Given the description of an element on the screen output the (x, y) to click on. 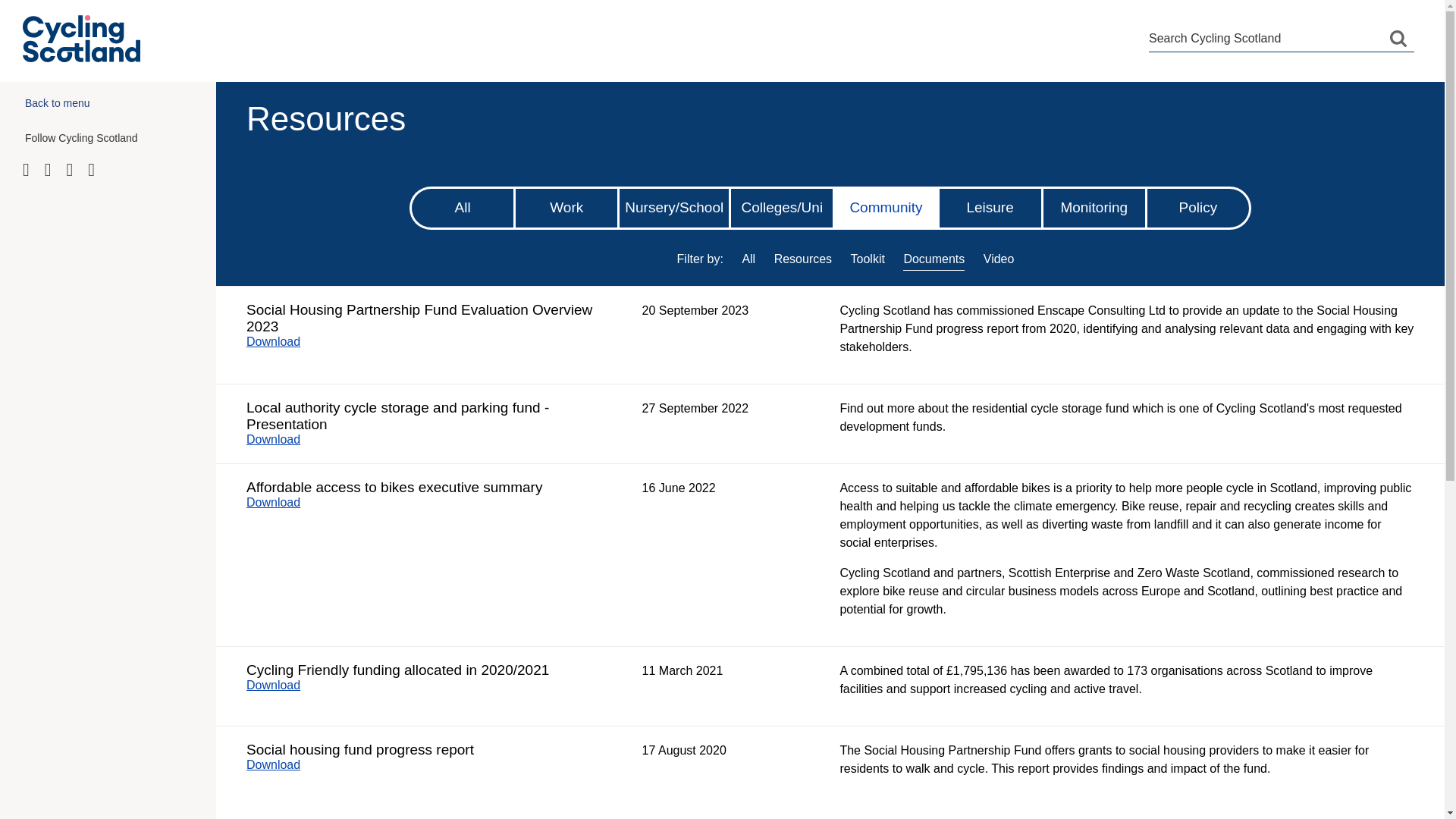
Download (280, 684)
Leisure (990, 208)
Download (280, 341)
Go (1398, 38)
Documents (932, 258)
Video (999, 258)
Monitoring (1093, 208)
Toolkit (867, 258)
Back to menu (107, 106)
Policy (1198, 208)
Resources (802, 258)
Work (566, 208)
Download (280, 439)
Community (885, 208)
Download (280, 502)
